Given the description of an element on the screen output the (x, y) to click on. 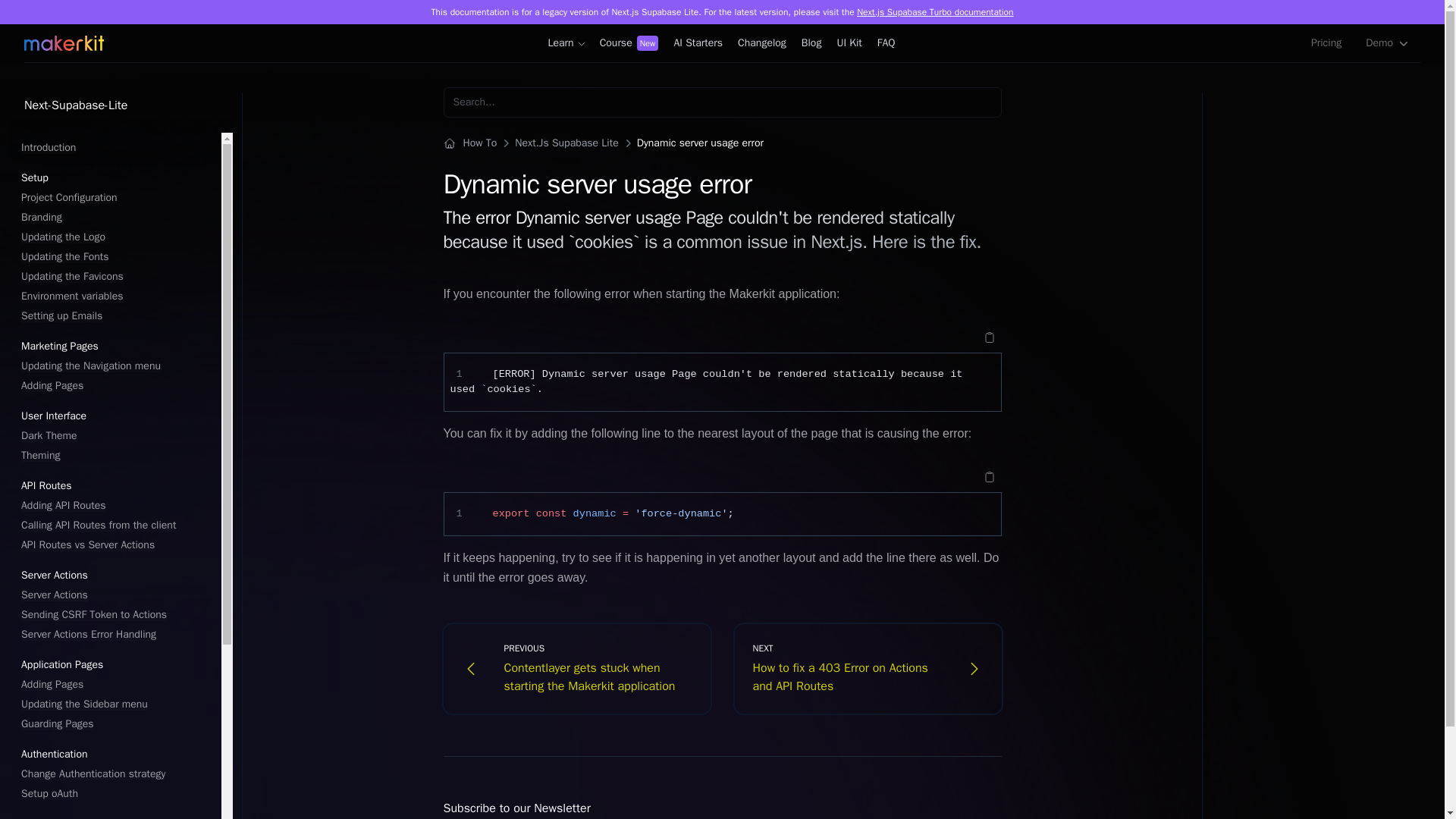
AI Starters (697, 43)
UI Kit (848, 43)
Project Configuration (114, 198)
Adding API Routes (114, 505)
Updating the Favicons (114, 276)
Server Actions (114, 595)
Guarding Pages (114, 723)
Updating the Logo (114, 237)
Sending CSRF Token to Actions (114, 615)
FAQ (885, 43)
